Given the description of an element on the screen output the (x, y) to click on. 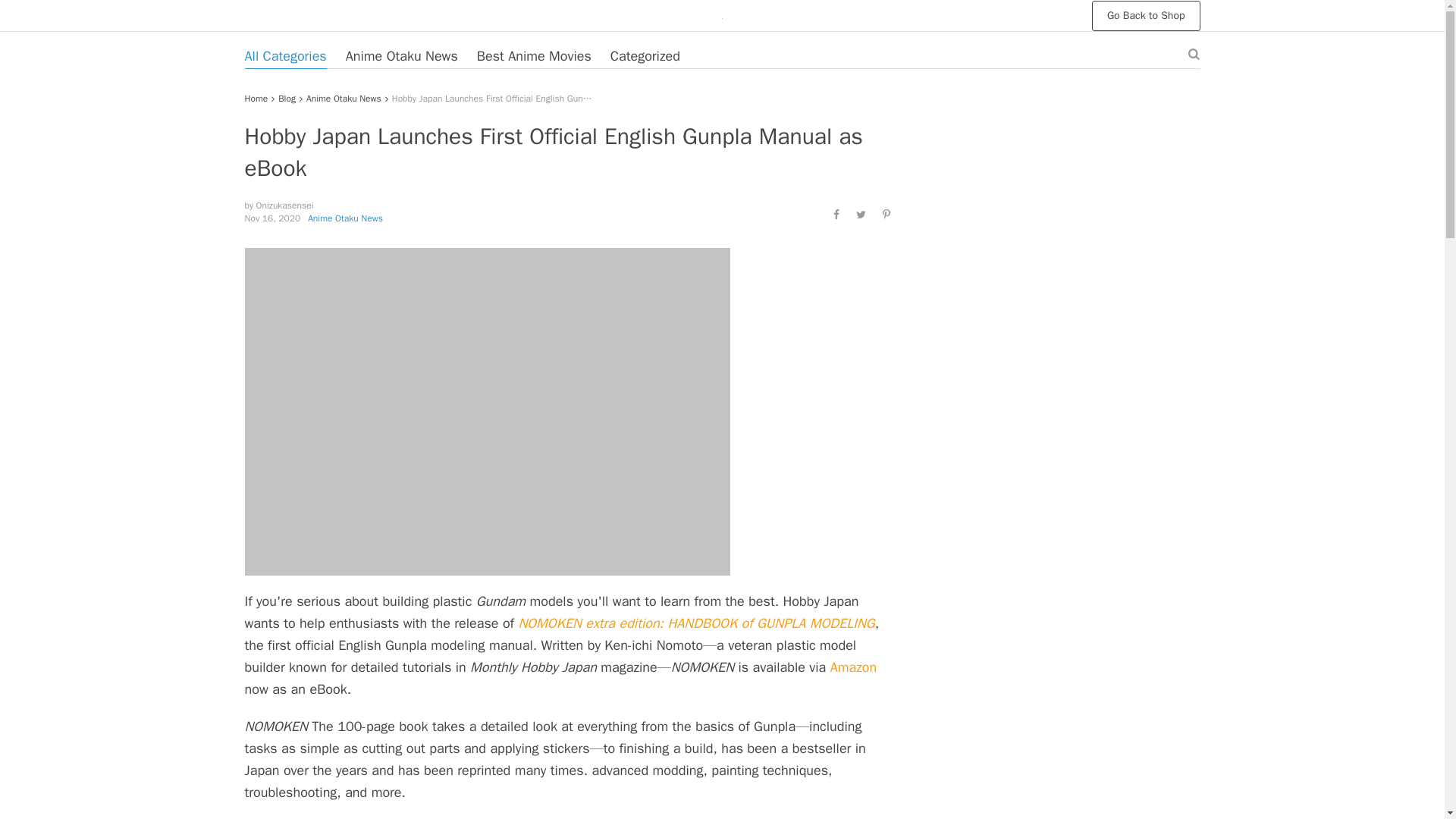
Anime Otaku News (344, 218)
Best Anime Movies (534, 55)
Go Back to Shop (1145, 15)
Categorized (644, 55)
Home (255, 98)
Anime Otaku News (402, 55)
All Categories (285, 55)
Blog (286, 98)
Anime Otaku News (343, 98)
